Given the description of an element on the screen output the (x, y) to click on. 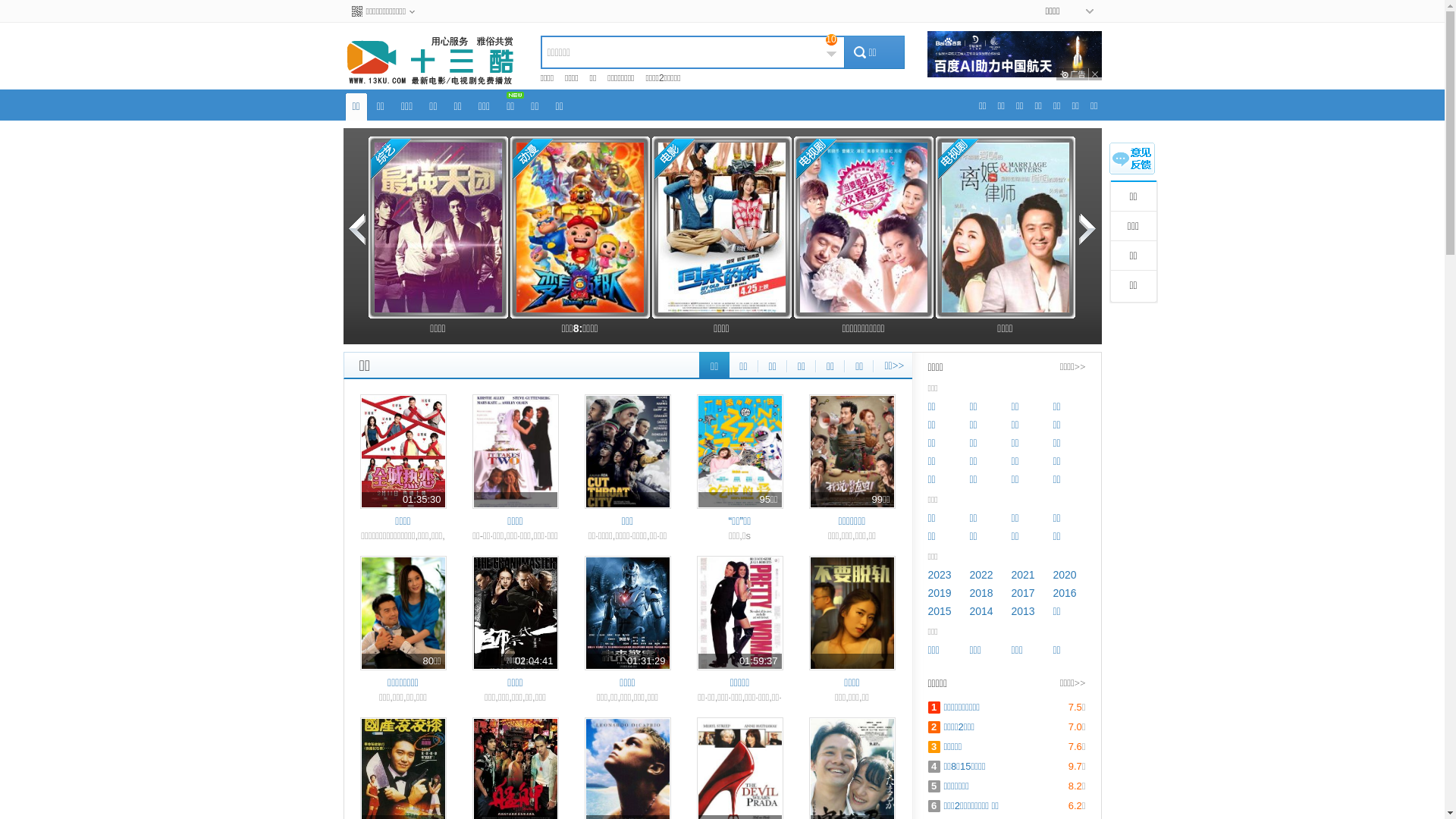
2019 Element type: text (939, 592)
2022 Element type: text (980, 574)
2015 Element type: text (939, 611)
2014 Element type: text (980, 611)
2023 Element type: text (939, 574)
2020 Element type: text (1064, 574)
2016 Element type: text (1064, 592)
2021 Element type: text (1023, 574)
2018 Element type: text (980, 592)
2013 Element type: text (1023, 611)
2017 Element type: text (1023, 592)
